Given the description of an element on the screen output the (x, y) to click on. 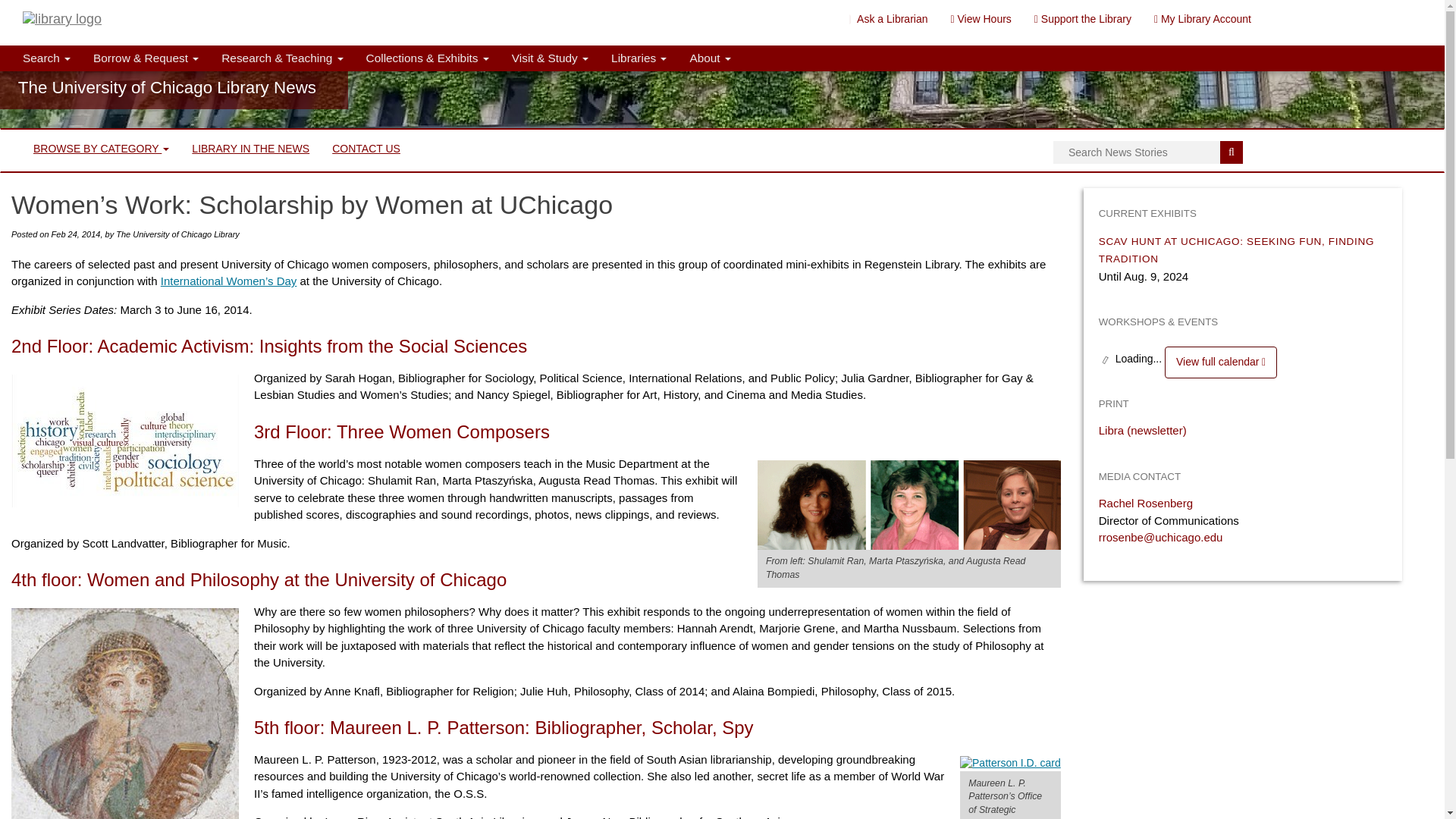
search news (1147, 151)
Search (1231, 151)
My Library Account (1202, 18)
Search (46, 58)
Search (1231, 151)
Ask a Librarian (888, 18)
Support the Library (1082, 18)
View Hours (980, 18)
